Given the description of an element on the screen output the (x, y) to click on. 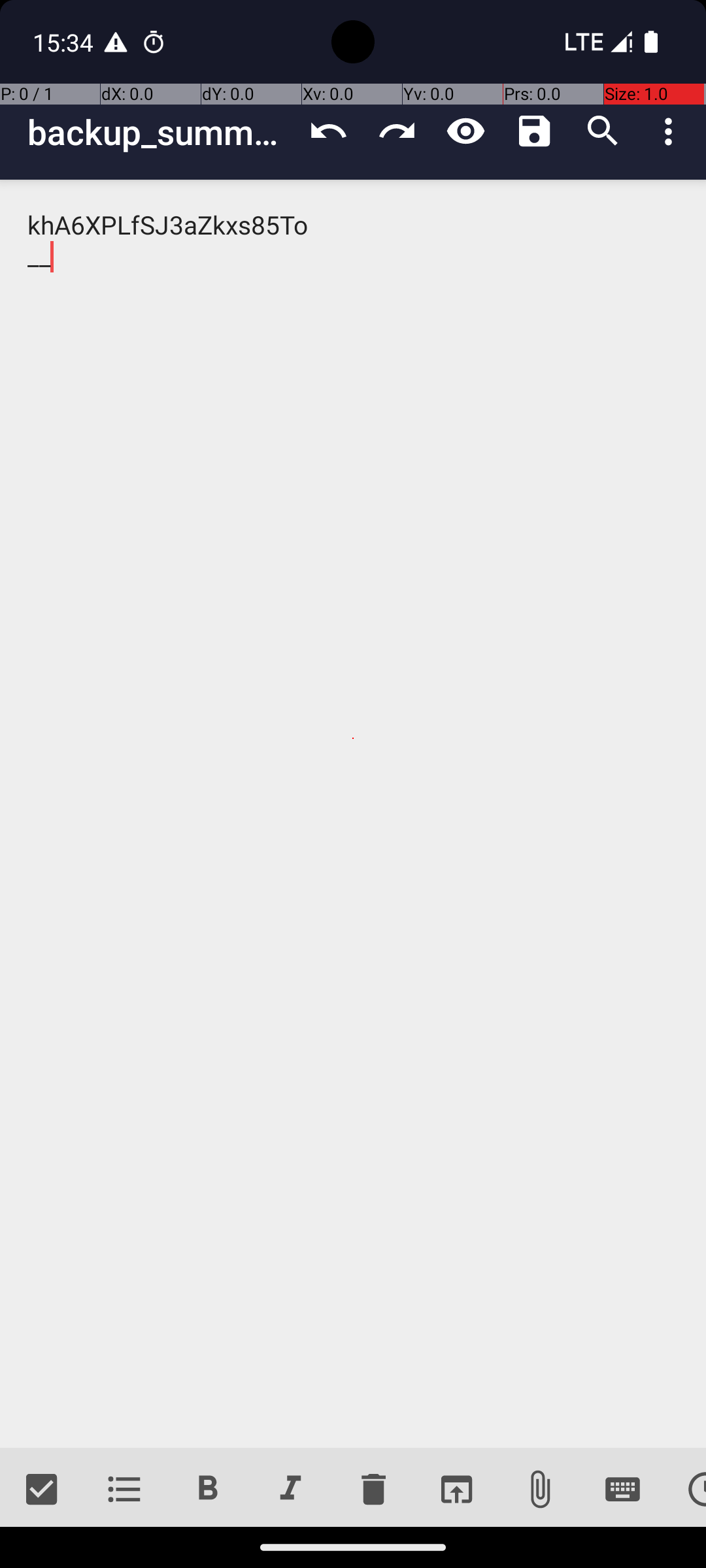
backup_summer_vacation_plans Element type: android.widget.TextView (160, 131)
khA6XPLfSJ3aZkxs85To
__ Element type: android.widget.EditText (353, 813)
